Given the description of an element on the screen output the (x, y) to click on. 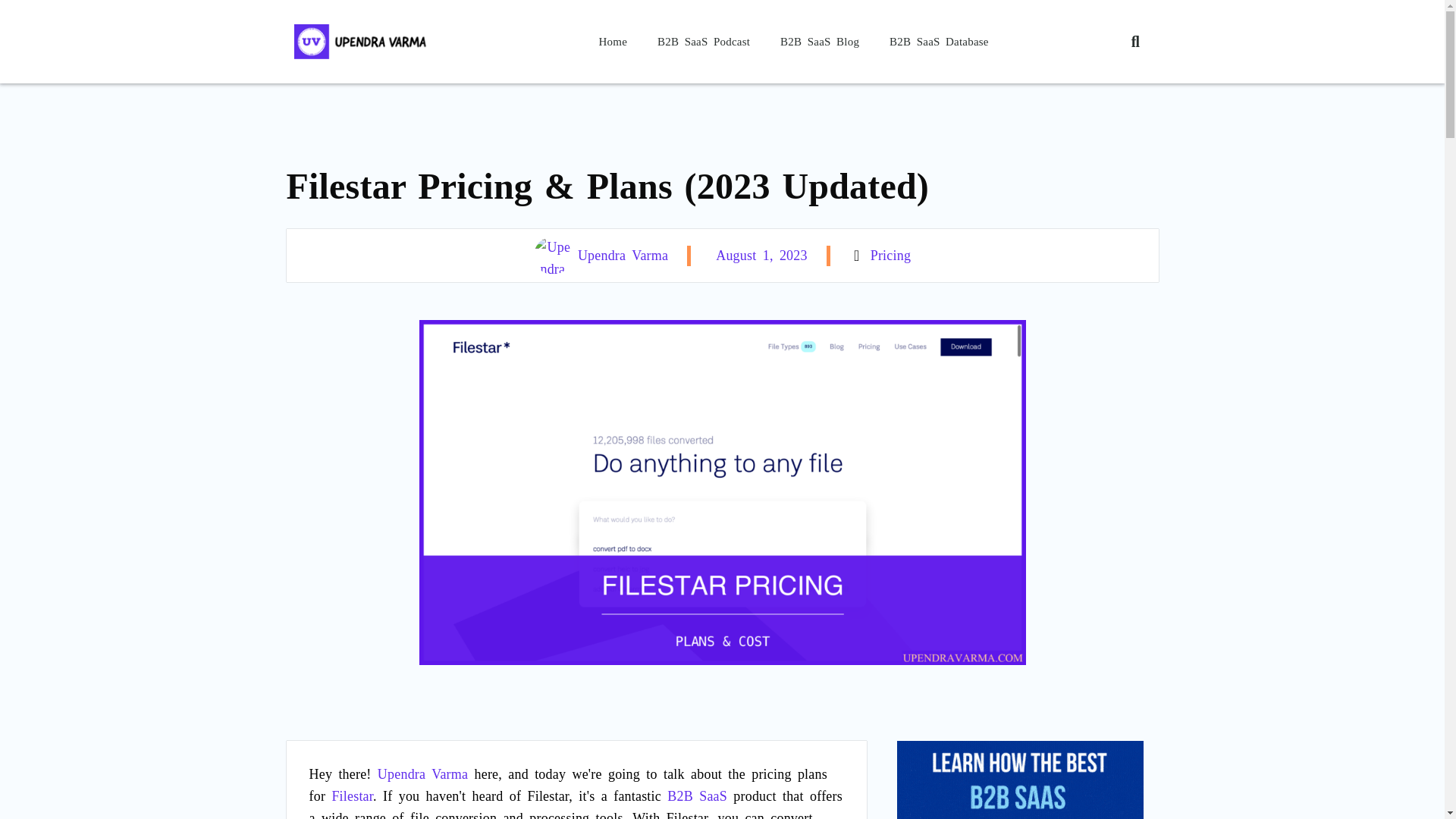
Filestar (351, 795)
B2B SaaS (696, 795)
August 1, 2023 (759, 255)
Upendra Varma (422, 774)
Pricing (890, 254)
B2B SaaS Podcast (703, 41)
B2B SaaS Blog (820, 41)
B2B SaaS Database (939, 41)
Upendra Varma (601, 255)
